Given the description of an element on the screen output the (x, y) to click on. 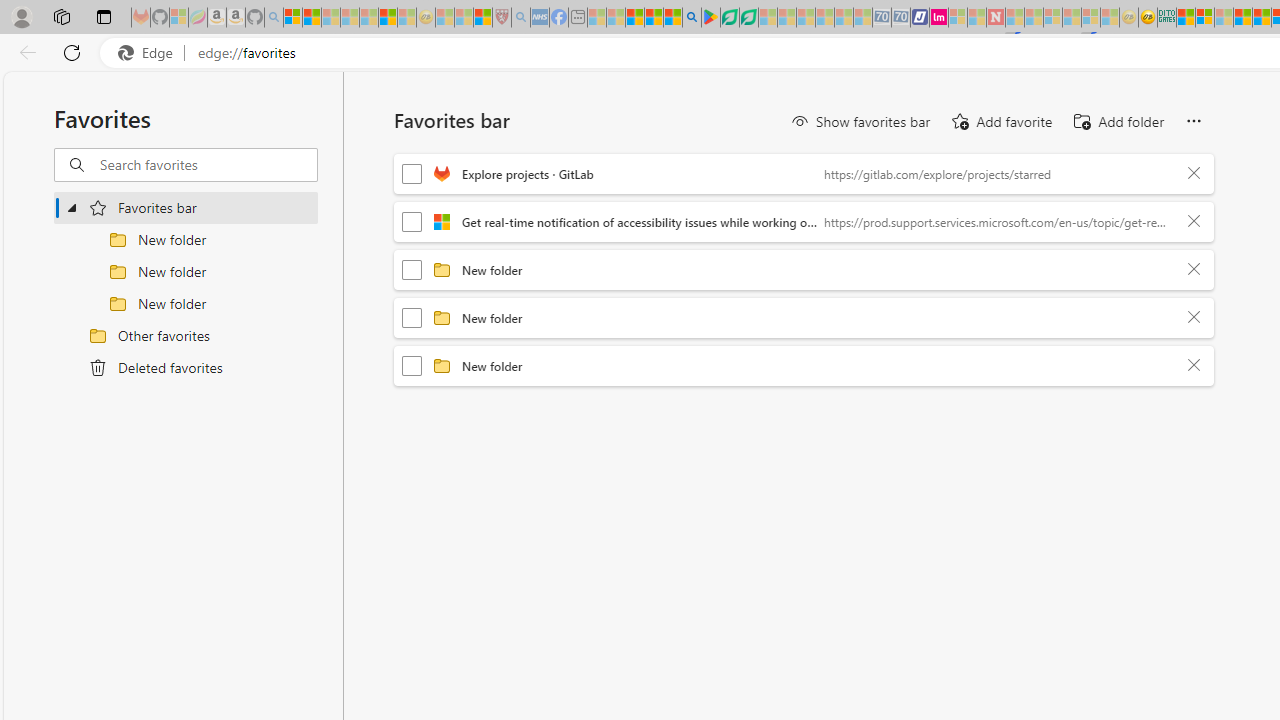
Local - MSN (482, 17)
Show favorites bar (859, 121)
Bluey: Let's Play! - Apps on Google Play (710, 17)
Search favorites (207, 165)
